Given the description of an element on the screen output the (x, y) to click on. 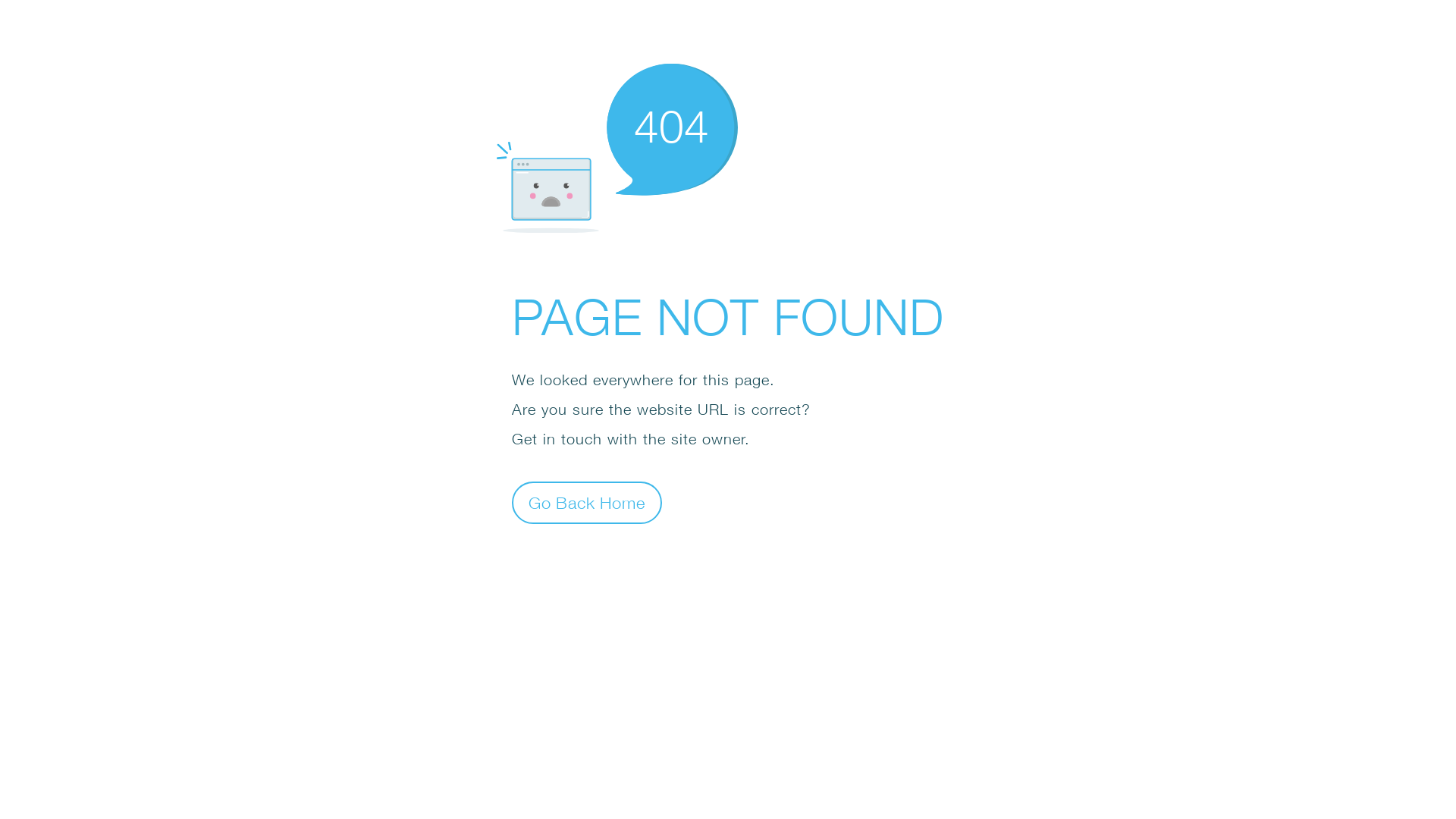
Go Back Home Element type: text (586, 502)
